Given the description of an element on the screen output the (x, y) to click on. 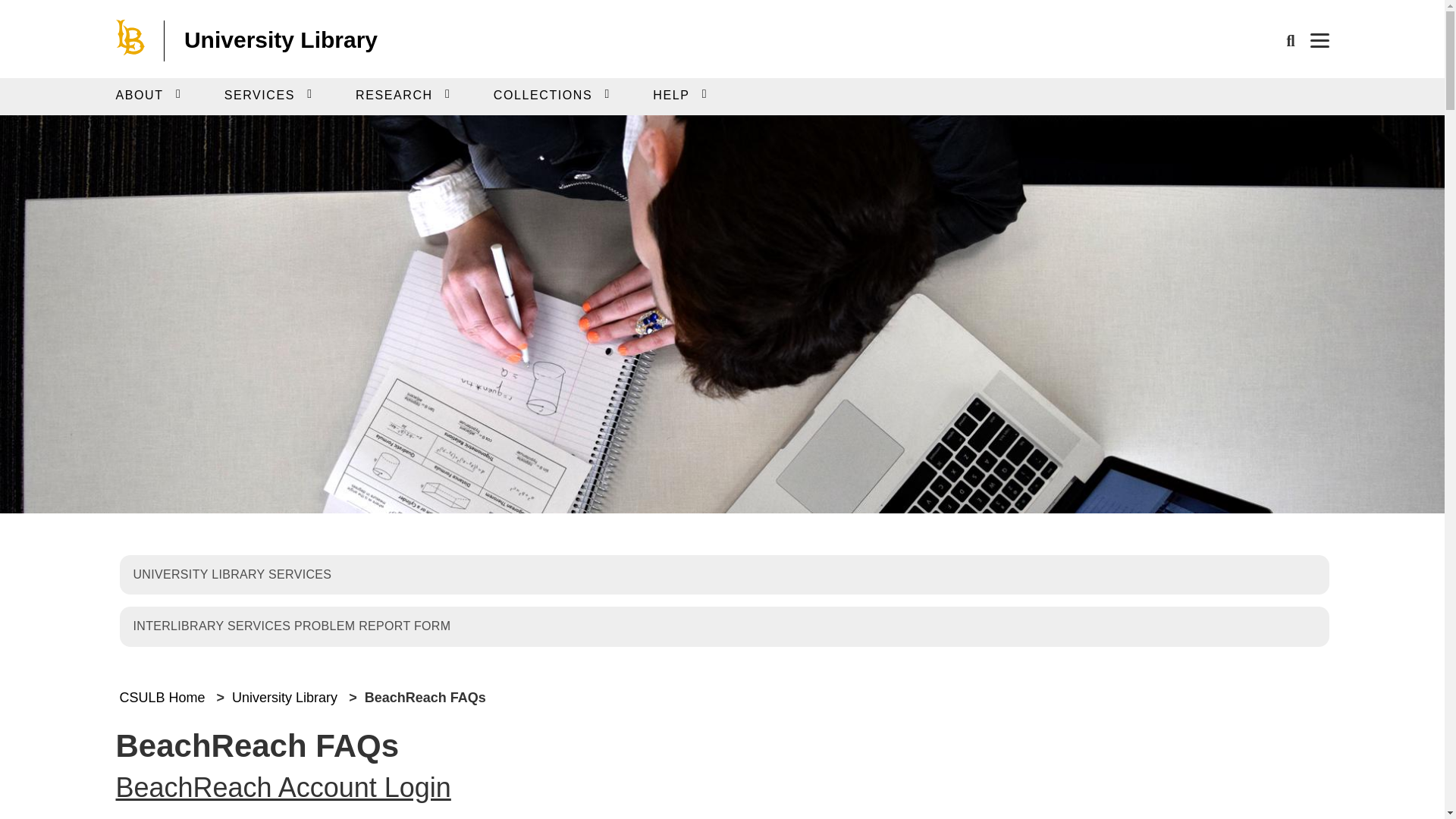
University Library (280, 39)
